Given the description of an element on the screen output the (x, y) to click on. 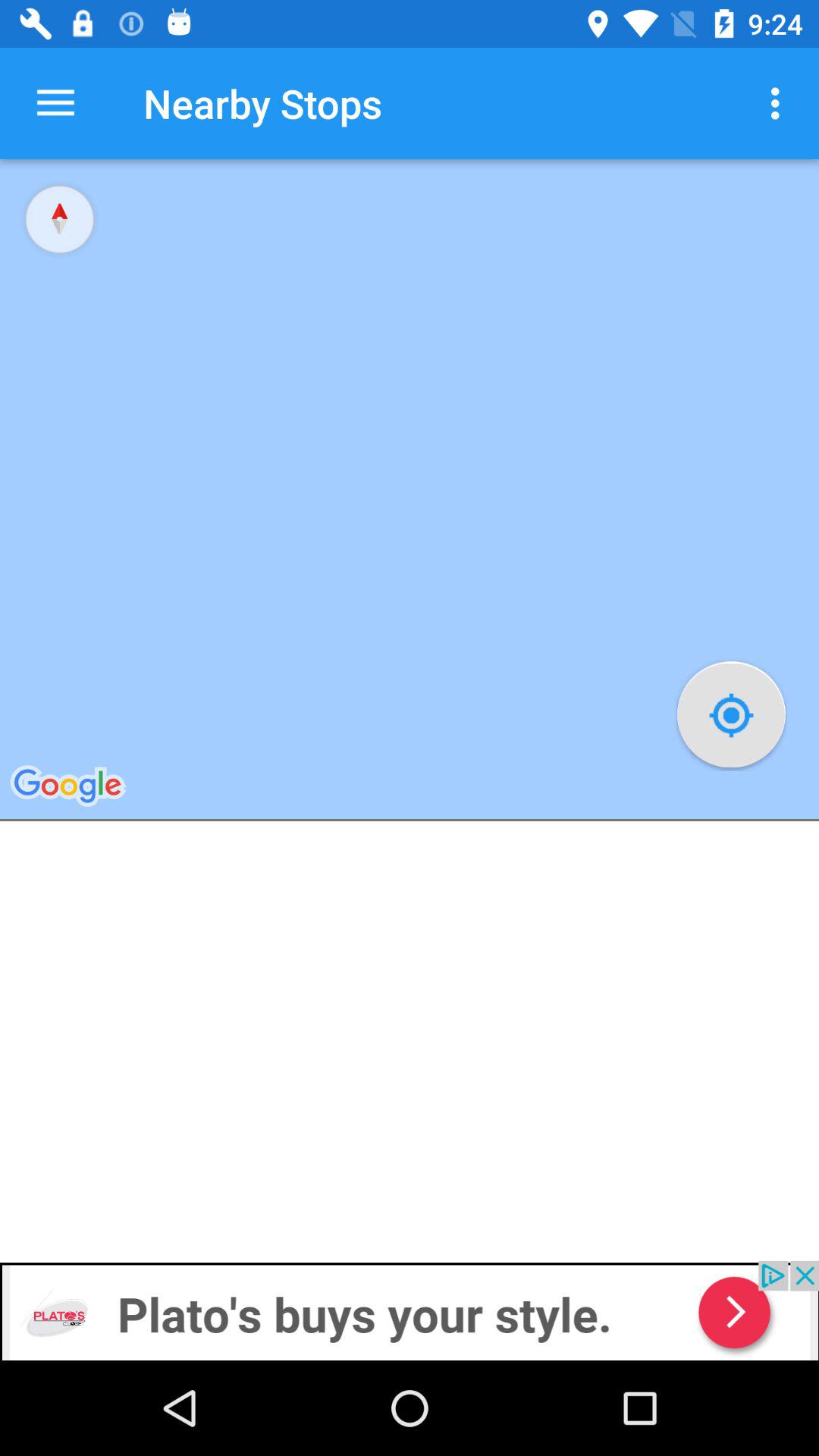
go to plato 's webstite (409, 1310)
